Given the description of an element on the screen output the (x, y) to click on. 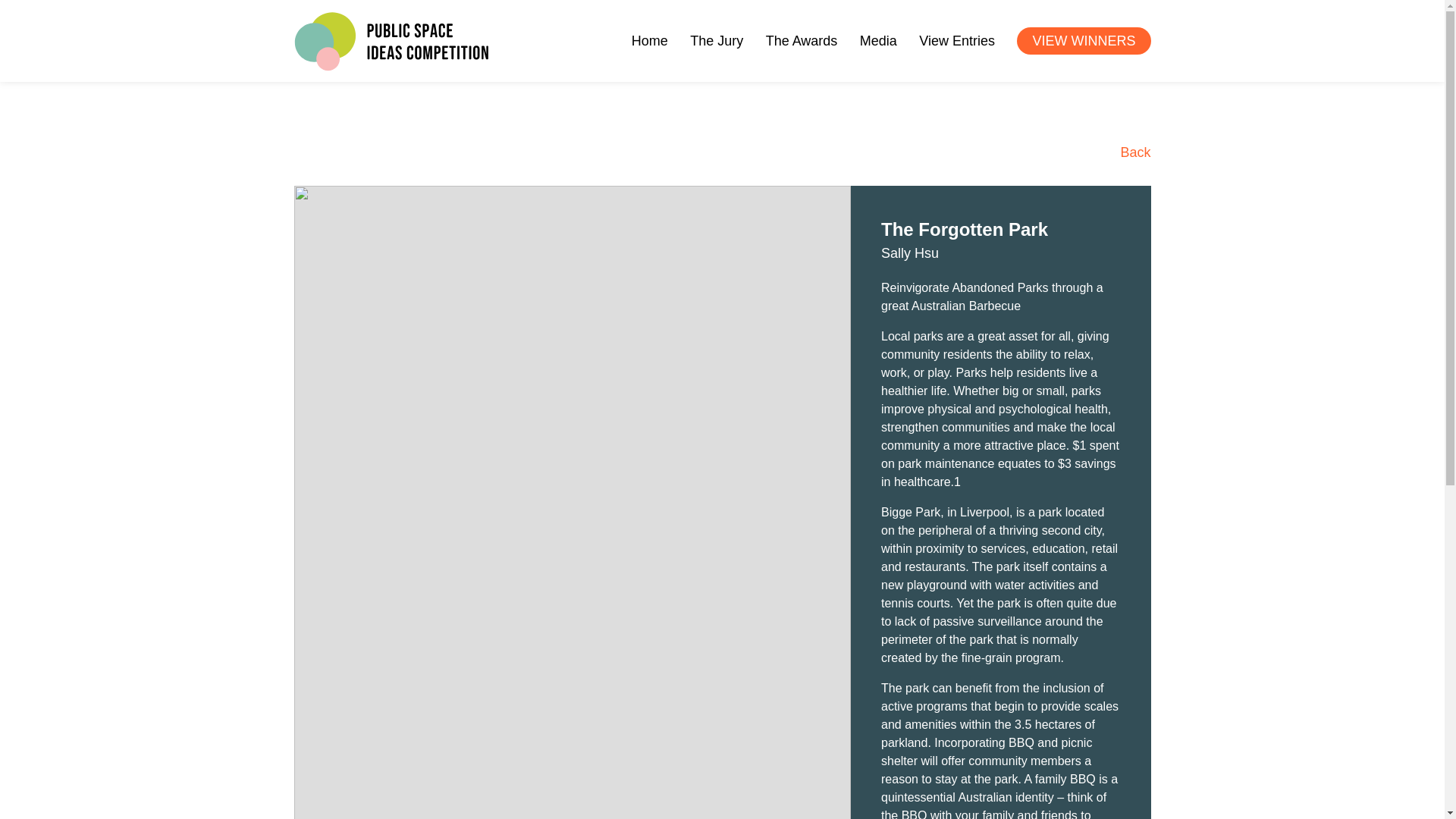
View Entries (956, 40)
Back (1119, 152)
VIEW WINNERS (1083, 40)
The Awards (801, 40)
The Jury (716, 40)
Home (649, 40)
Media (878, 40)
